Given the description of an element on the screen output the (x, y) to click on. 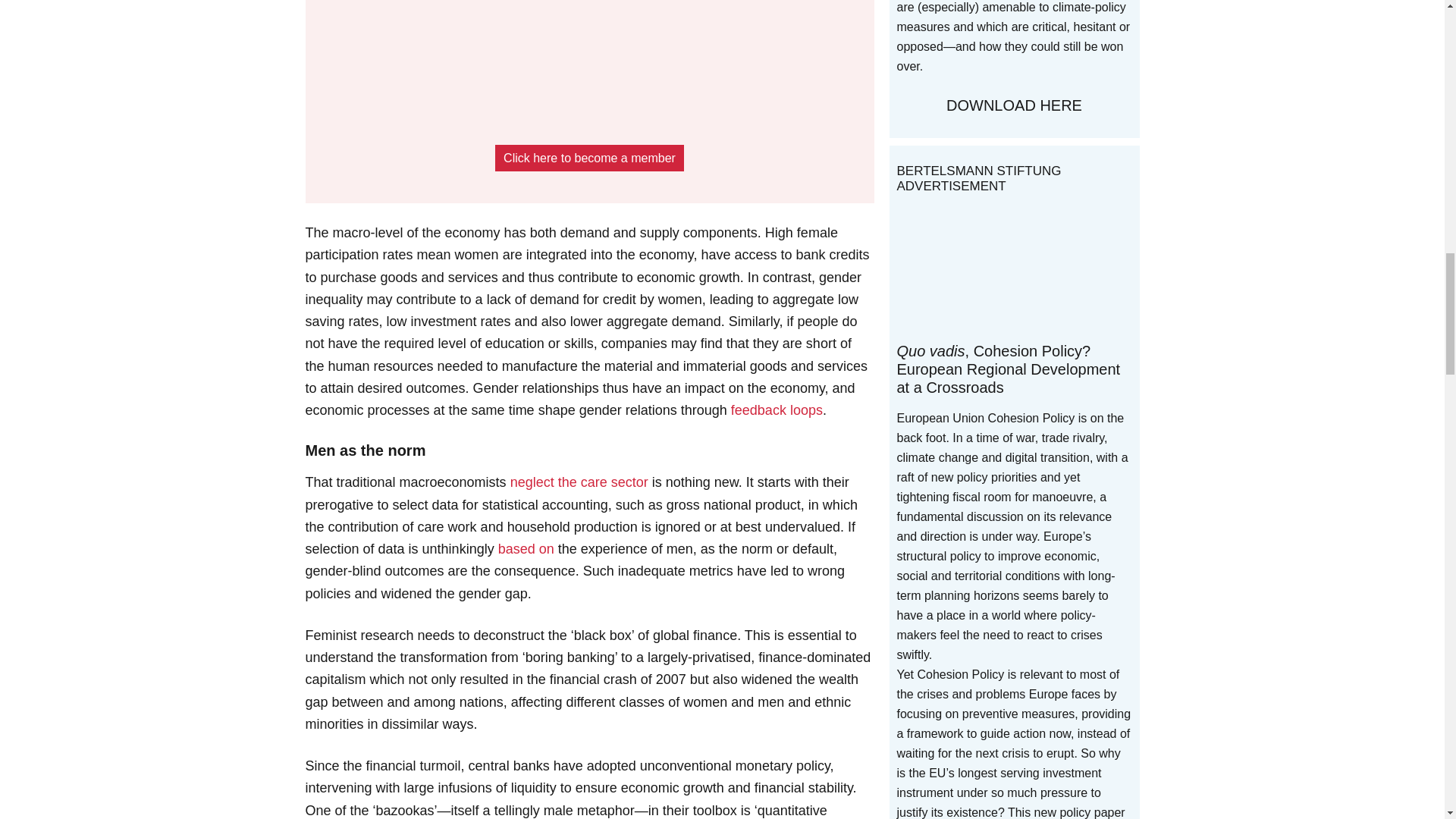
neglect the care sector (579, 482)
feedback loops (776, 409)
based on (525, 548)
Click here to become a member (589, 157)
